Given the description of an element on the screen output the (x, y) to click on. 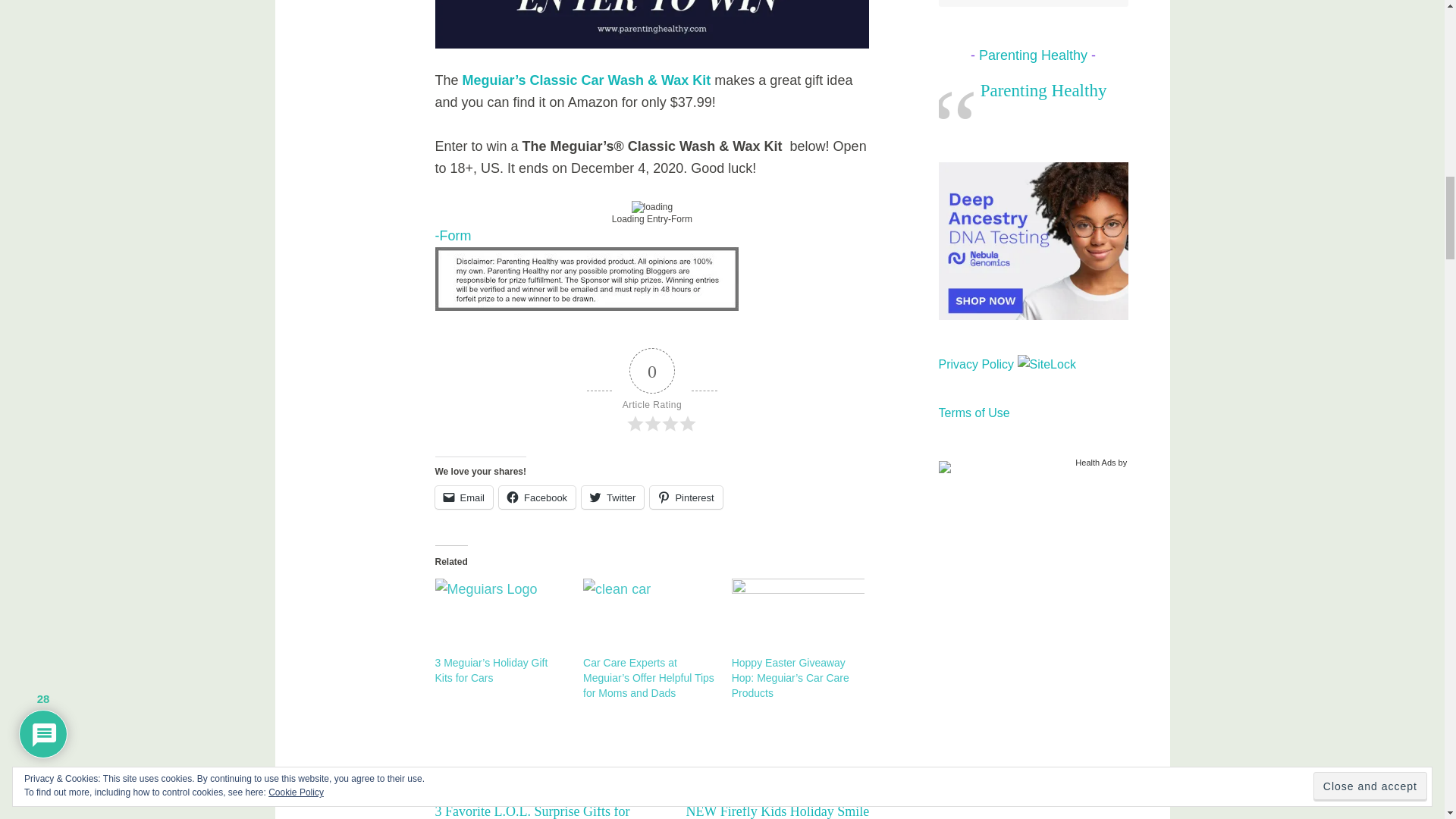
Click to share on Pinterest (685, 497)
Click to share on Twitter (611, 497)
Click to share on Facebook (537, 497)
Click to email a link to a friend (464, 497)
